Given the description of an element on the screen output the (x, y) to click on. 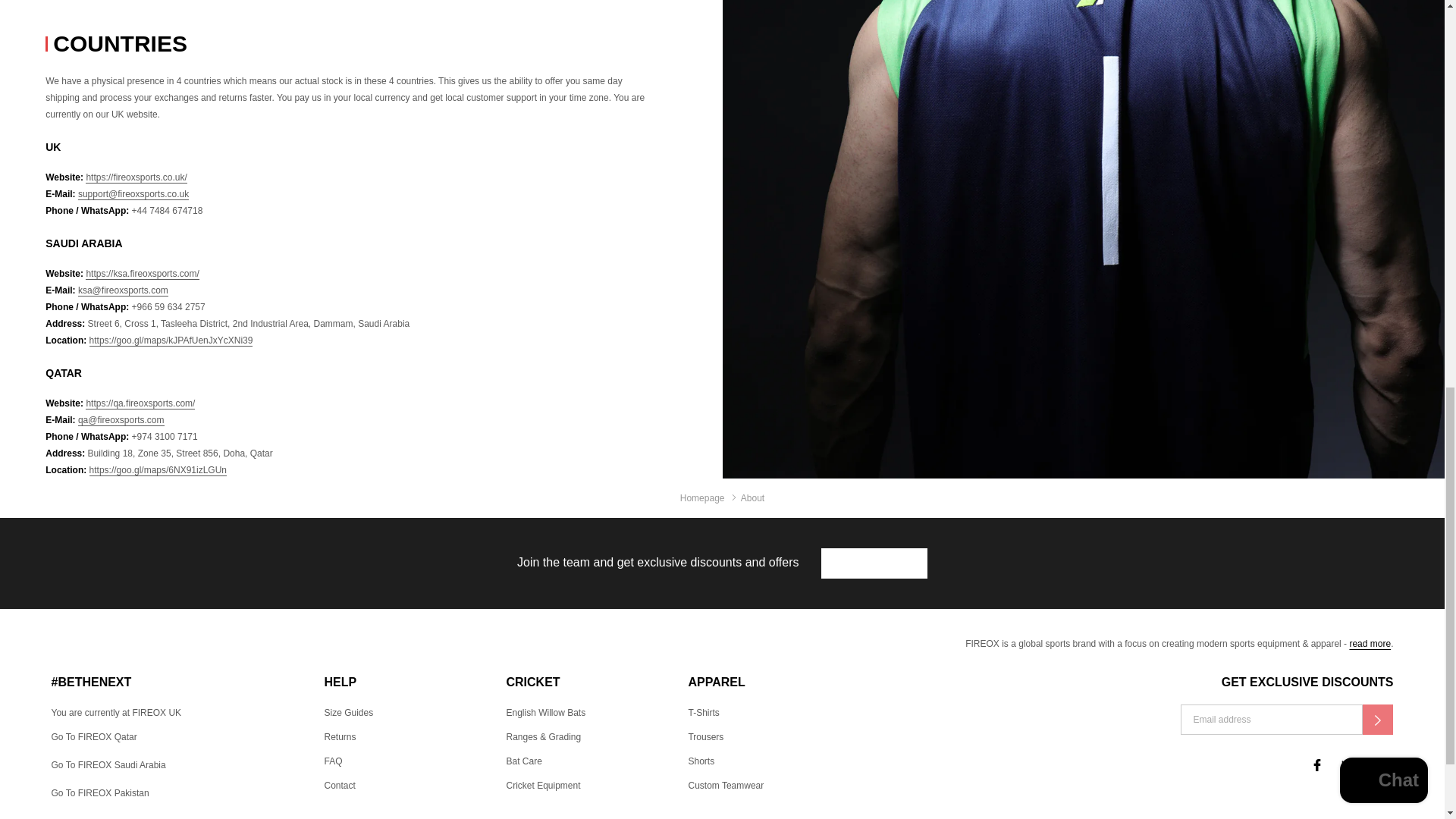
Facebook (1316, 765)
Instagram (1377, 765)
About (1369, 643)
Twitter (1347, 765)
